Given the description of an element on the screen output the (x, y) to click on. 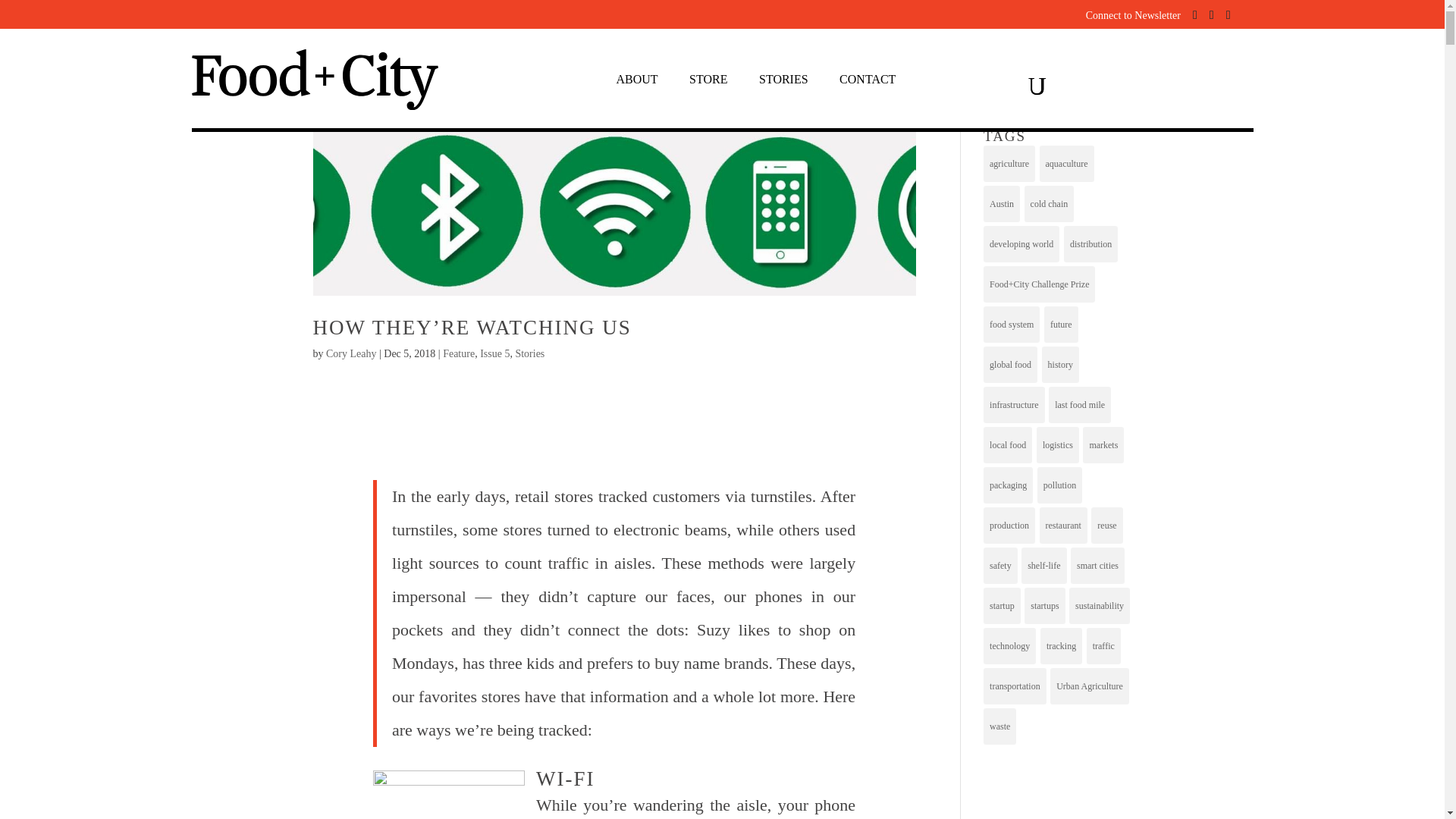
Cory Leahy (350, 353)
Feature (458, 353)
ABOUT (636, 83)
STORIES (783, 83)
STORE (707, 83)
Posts by Cory Leahy (350, 353)
Issue 5 (494, 353)
CONTACT (867, 83)
Connect to Newsletter (1133, 15)
Stories (529, 353)
